Given the description of an element on the screen output the (x, y) to click on. 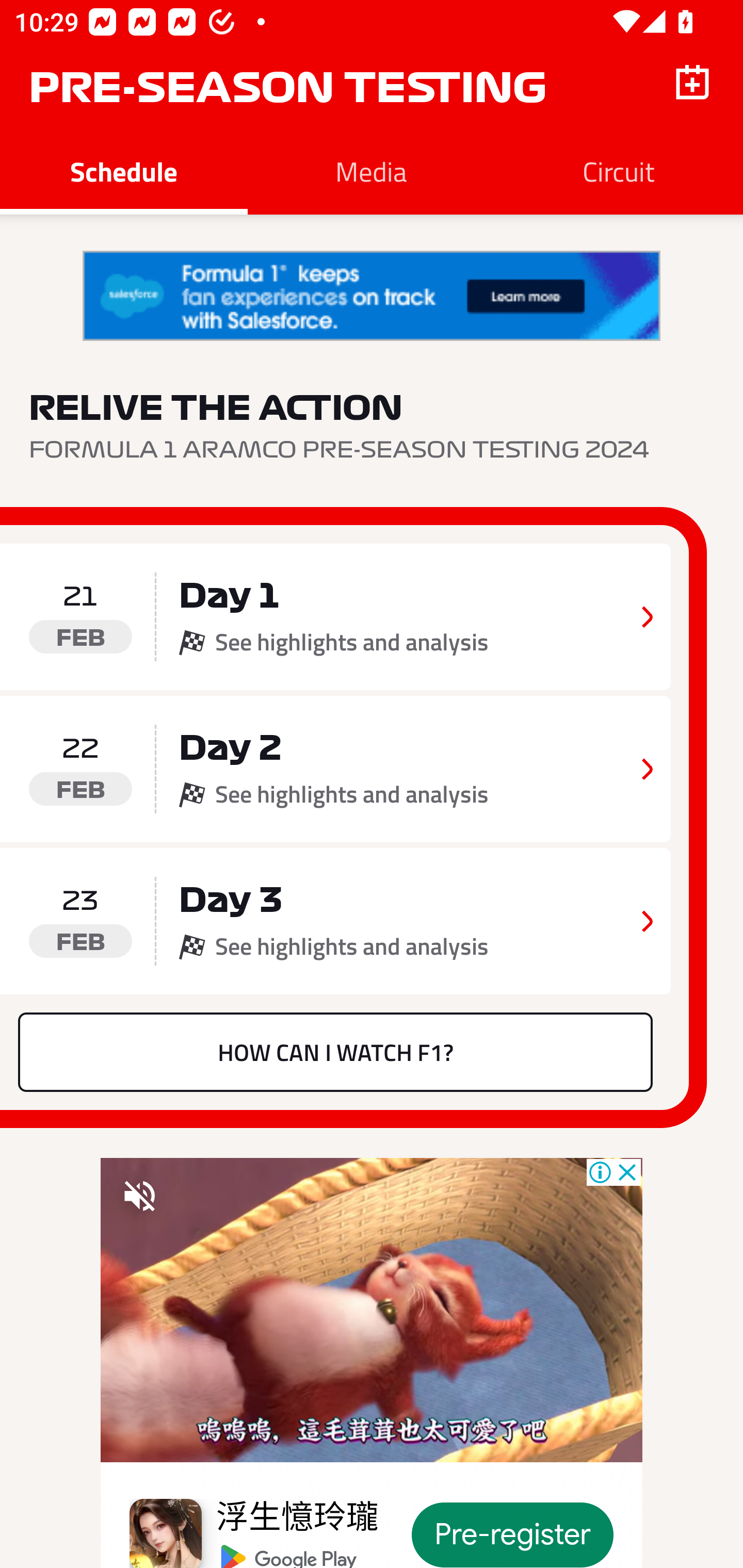
Media (371, 171)
Circuit (619, 171)
Advertisement (371, 295)
21 FEB February Day 1 See highlights and analysis (335, 616)
22 FEB February Day 2 See highlights and analysis (335, 769)
23 FEB February Day 3 See highlights and analysis (335, 921)
HOW CAN I WATCH F1? (334, 1051)
Pre-register (512, 1535)
